Given the description of an element on the screen output the (x, y) to click on. 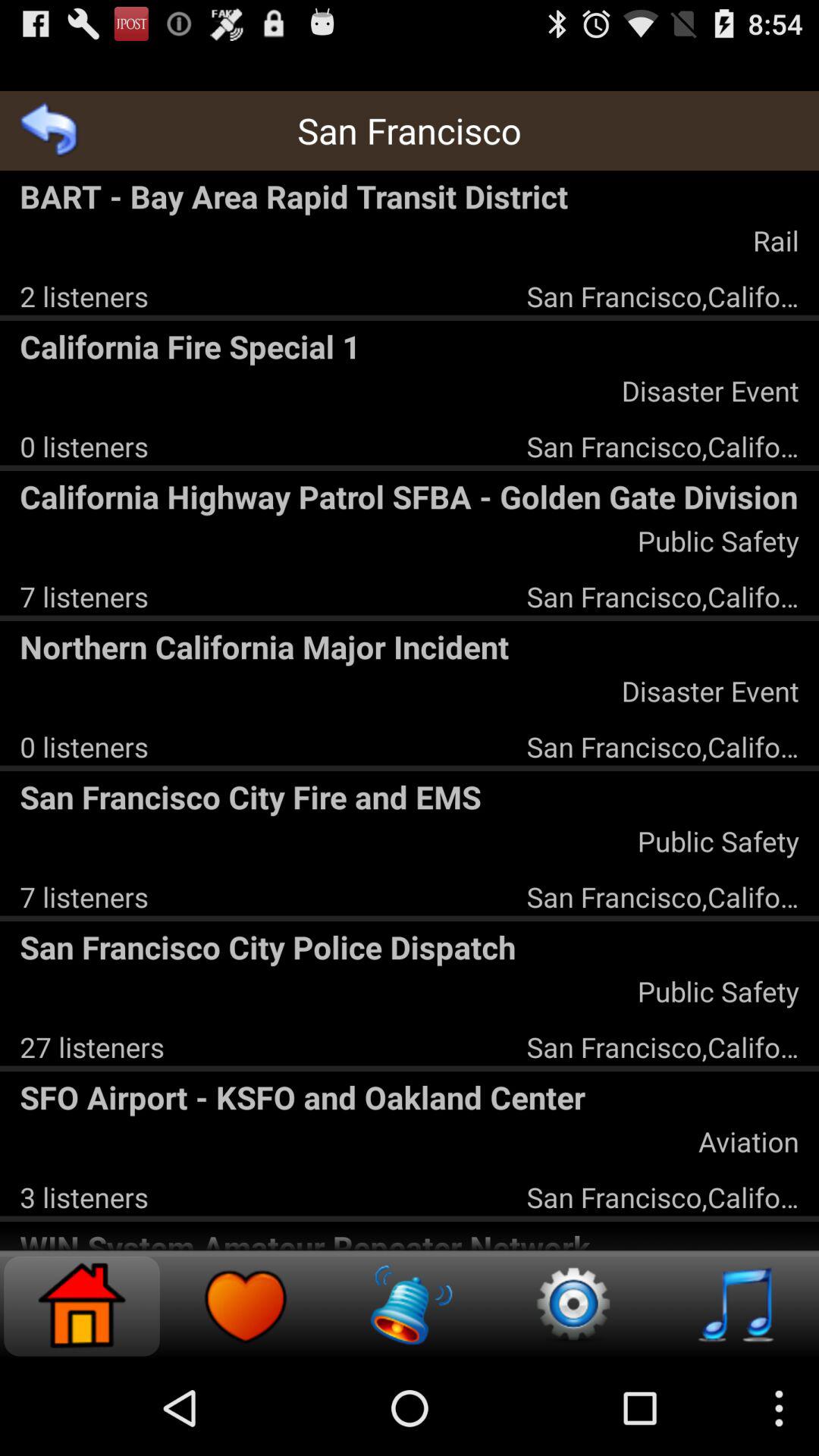
click the item above the sfo airport ksfo icon (91, 1046)
